Given the description of an element on the screen output the (x, y) to click on. 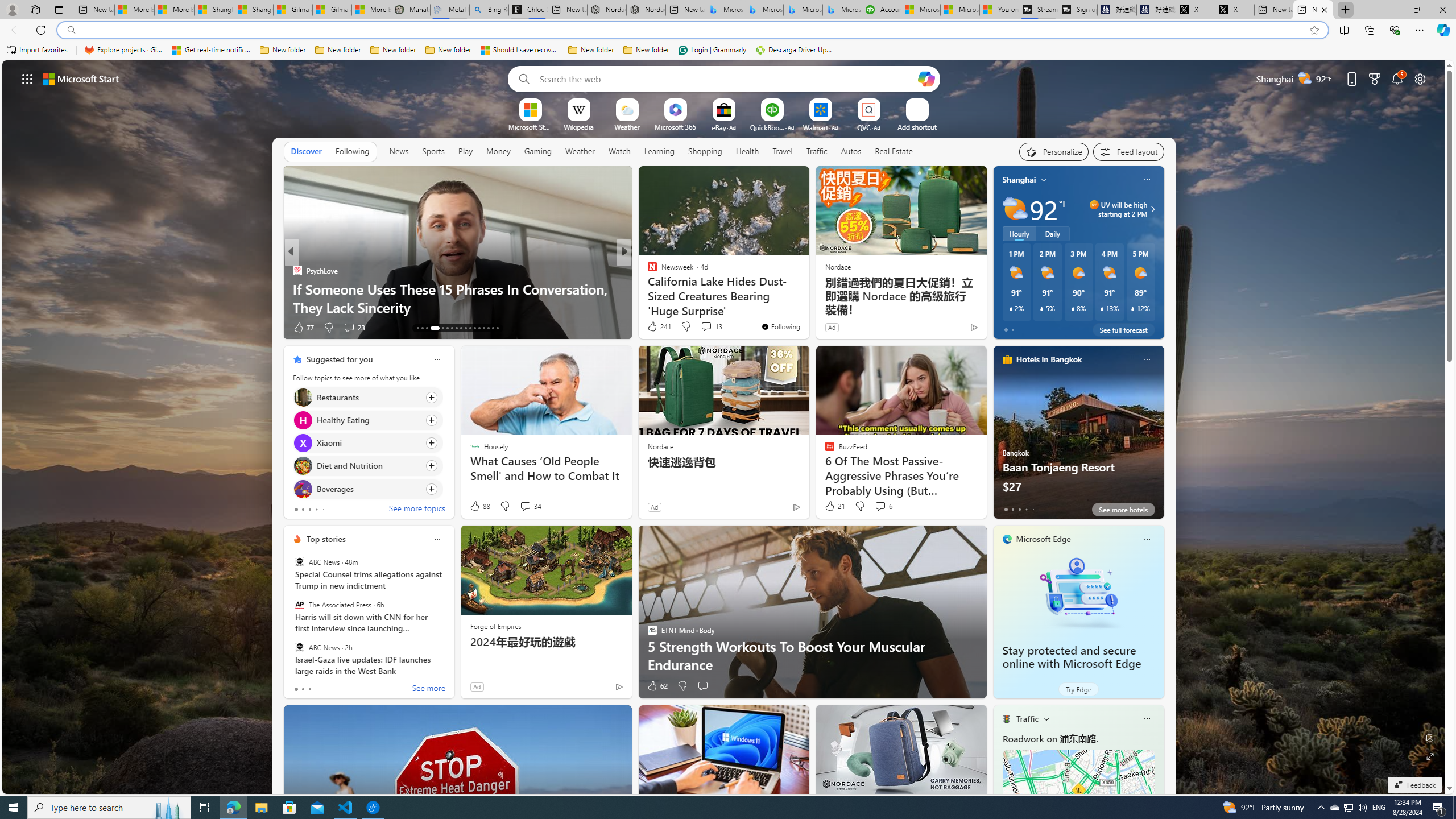
Shopping (705, 151)
99 Like (652, 327)
Enter your search term (726, 78)
Favorites bar (728, 49)
View comments 49 Comment (703, 327)
Microsoft start (81, 78)
Hourly (1018, 233)
tab-2 (309, 689)
5 Best Lifting Workouts for Men To Build a Chiseled Body (807, 298)
62 Like (657, 685)
